Given the description of an element on the screen output the (x, y) to click on. 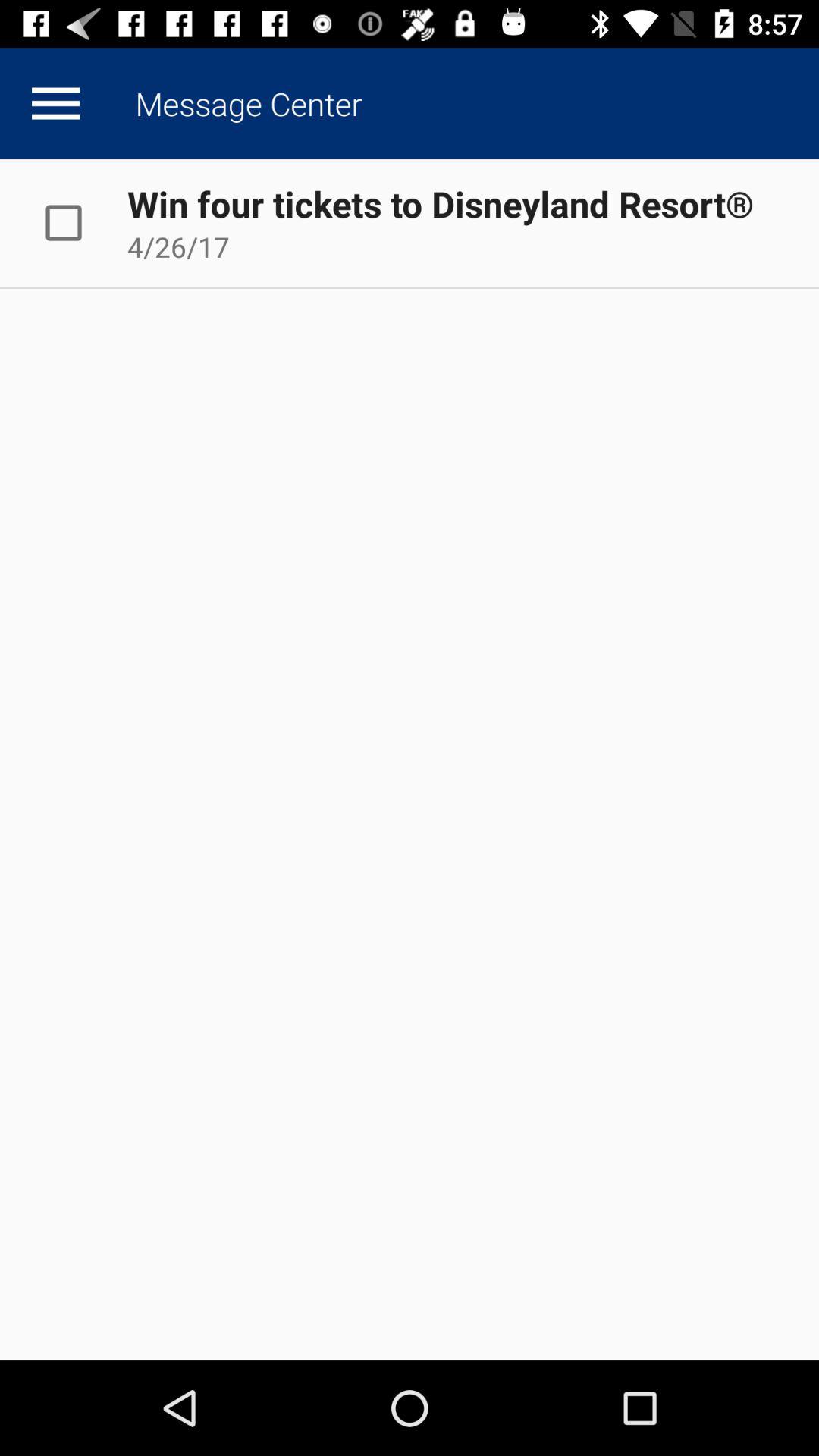
click icon to the left of message center icon (55, 103)
